Given the description of an element on the screen output the (x, y) to click on. 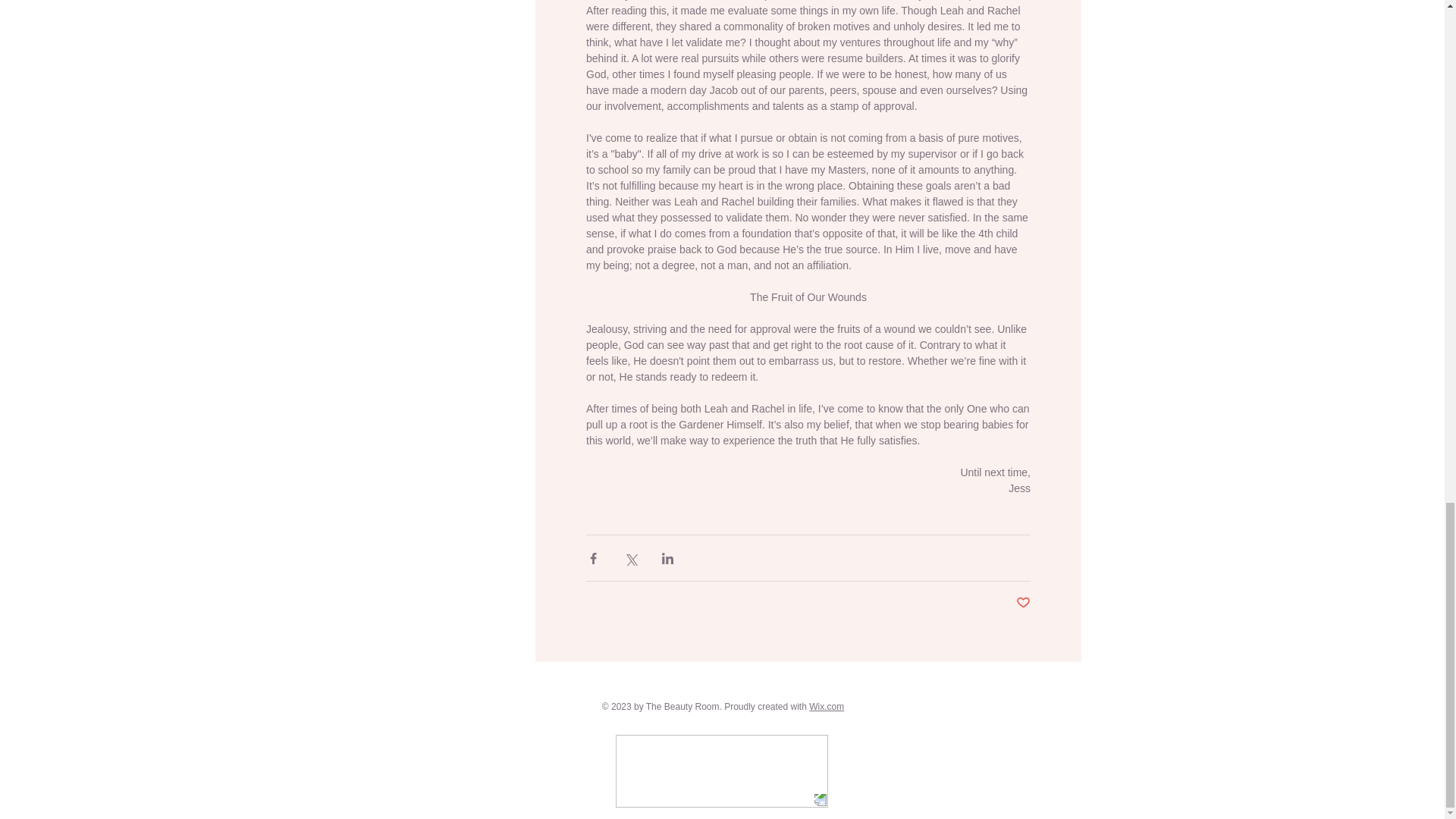
Post not marked as liked (1023, 602)
Wix.com (826, 706)
